Given the description of an element on the screen output the (x, y) to click on. 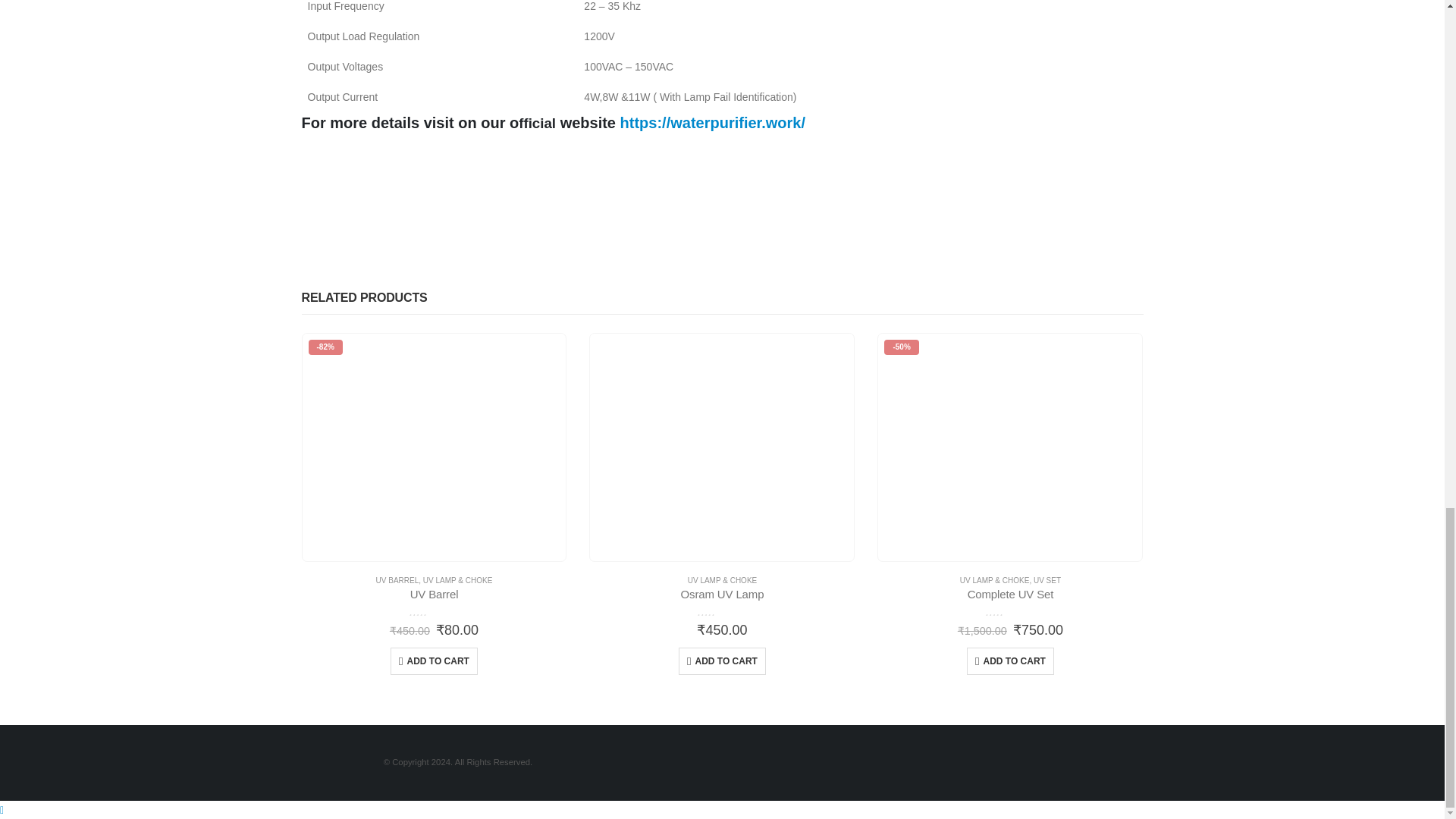
0 (433, 611)
0 (721, 611)
0 (1010, 611)
